Given the description of an element on the screen output the (x, y) to click on. 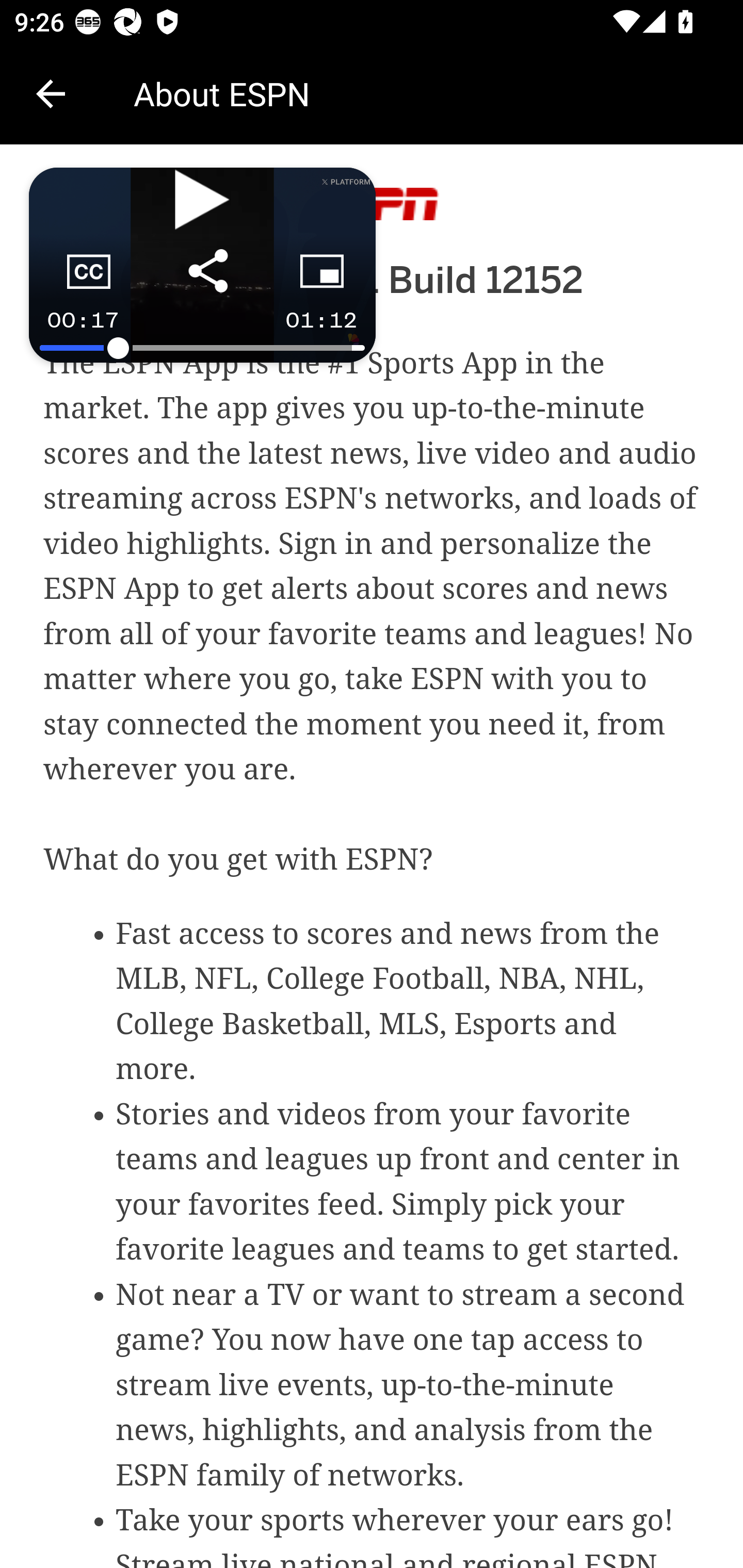
Navigate up (50, 93)
